Given the description of an element on the screen output the (x, y) to click on. 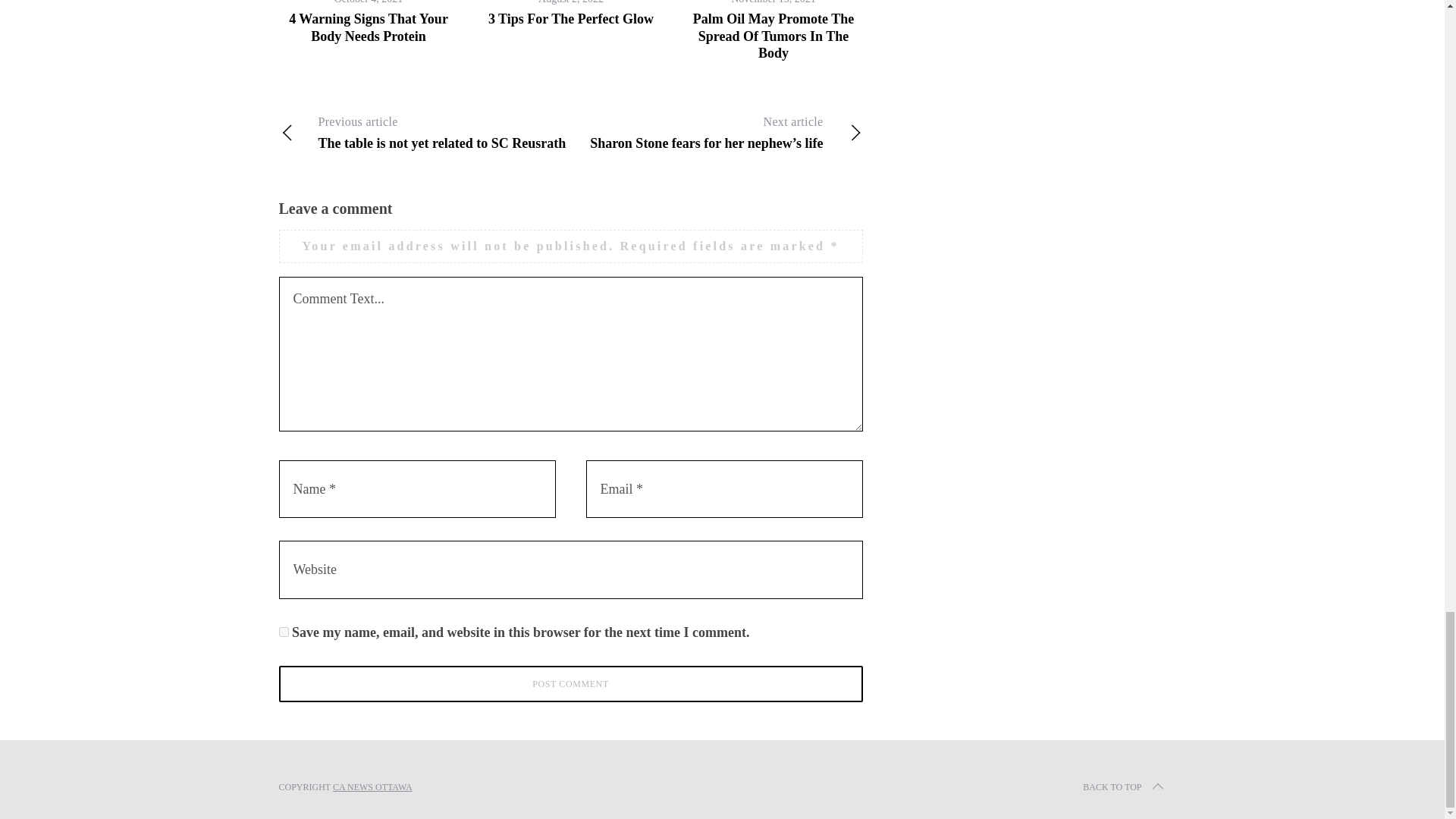
Post Comment (571, 683)
3 Tips For The Perfect Glow (570, 18)
yes (283, 632)
Post Comment (424, 132)
Palm Oil May Promote The Spread Of Tumors In The Body (571, 683)
4 Warning Signs That Your Body Needs Protein (773, 35)
